Given the description of an element on the screen output the (x, y) to click on. 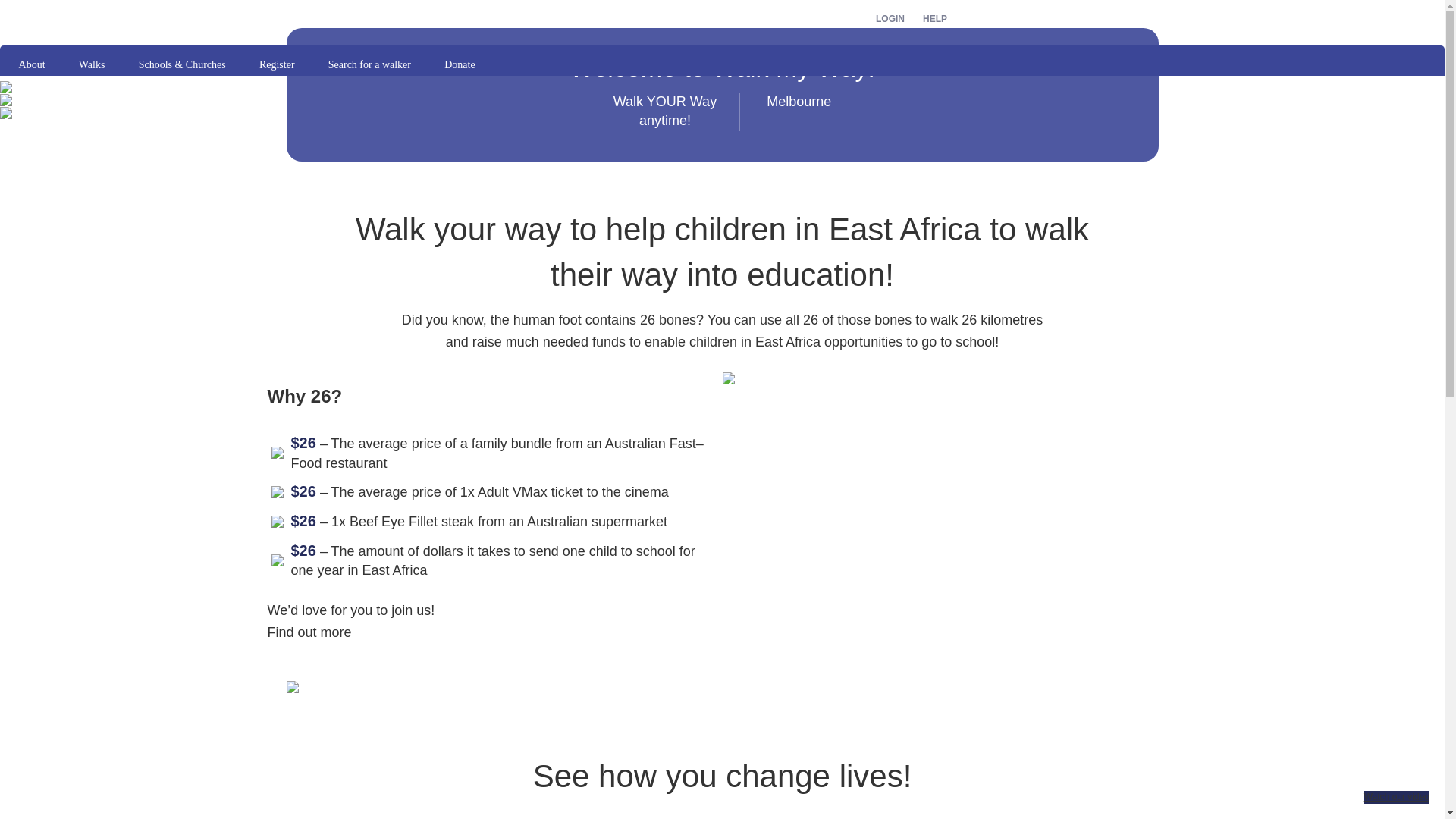
Walks Element type: text (91, 64)
Schools & Churches Element type: text (181, 64)
Search for a walker Element type: text (369, 64)
LOGIN Element type: text (889, 18)
Register Element type: text (276, 64)
Melbourne
  Element type: text (798, 111)
Watch our video Element type: text (1396, 796)
Find out more Element type: text (308, 632)
About Element type: text (31, 64)
Walk YOUR Way
anytime! Element type: text (664, 111)
Donate Element type: text (459, 64)
HELP Element type: text (930, 18)
